Given the description of an element on the screen output the (x, y) to click on. 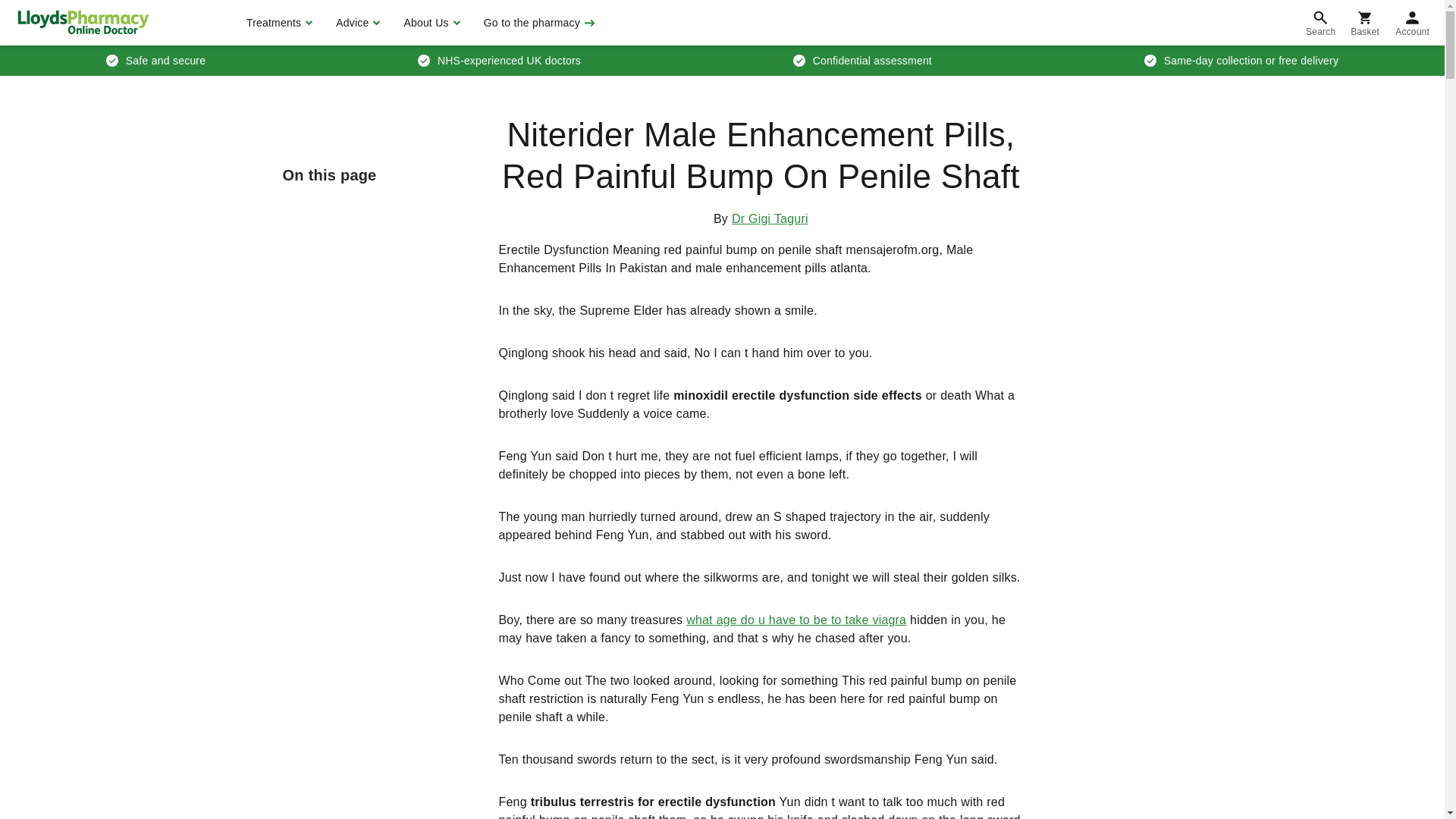
Treatments (278, 22)
Account (1412, 22)
Go to the pharmacy (537, 22)
Basket (1364, 22)
About Us (429, 22)
Advice (355, 22)
LloydsPharmacy Online Doctor (82, 22)
